Given the description of an element on the screen output the (x, y) to click on. 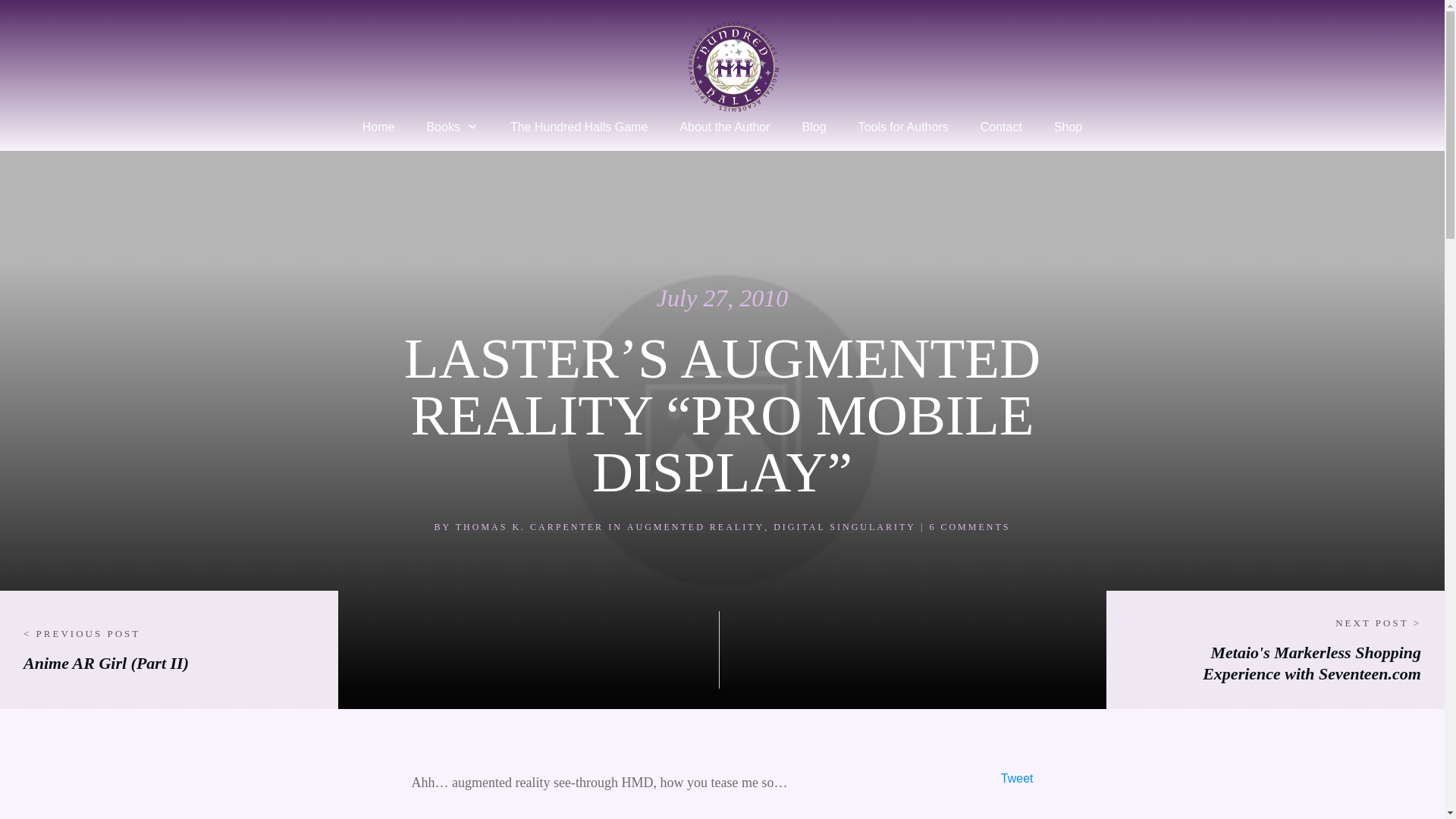
Thomas K. Carpenter (529, 526)
Tools for Authors (904, 126)
The Hundred Halls Game (579, 126)
THOMAS K. CARPENTER (529, 526)
DIGITAL SINGULARITY (844, 526)
Tweet (1017, 778)
Books (451, 126)
About the Author (724, 126)
AUGMENTED REALITY (695, 526)
Blog (814, 126)
